Given the description of an element on the screen output the (x, y) to click on. 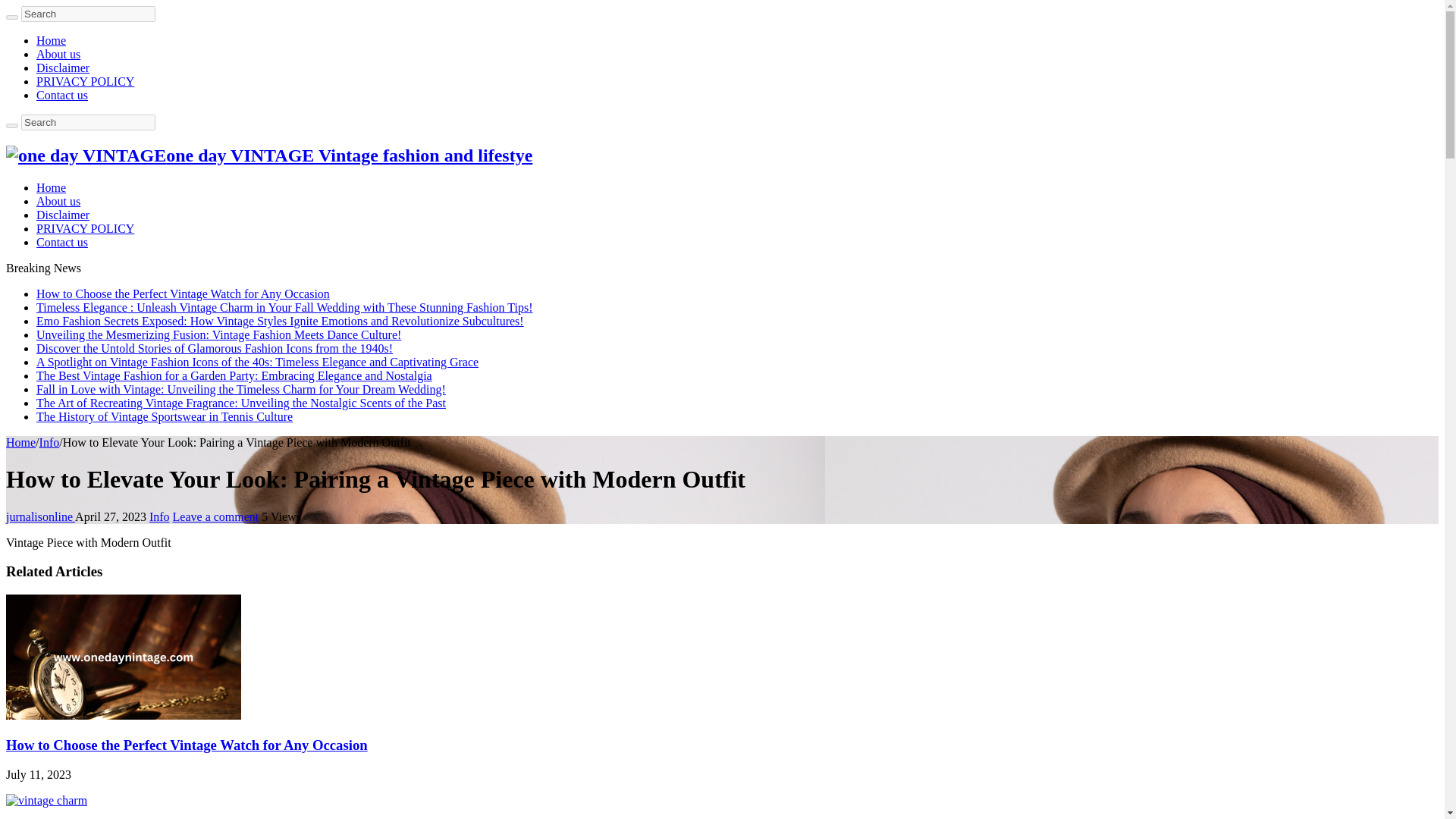
Disclaimer (62, 67)
PRIVACY POLICY (84, 228)
Search (88, 122)
Disclaimer (62, 214)
Info (49, 441)
one day VINTAGE Vintage fashion and lifestye (268, 155)
Search (88, 13)
How to Choose the Perfect Vintage Watch for Any Occasion (183, 293)
Search (11, 17)
